Given the description of an element on the screen output the (x, y) to click on. 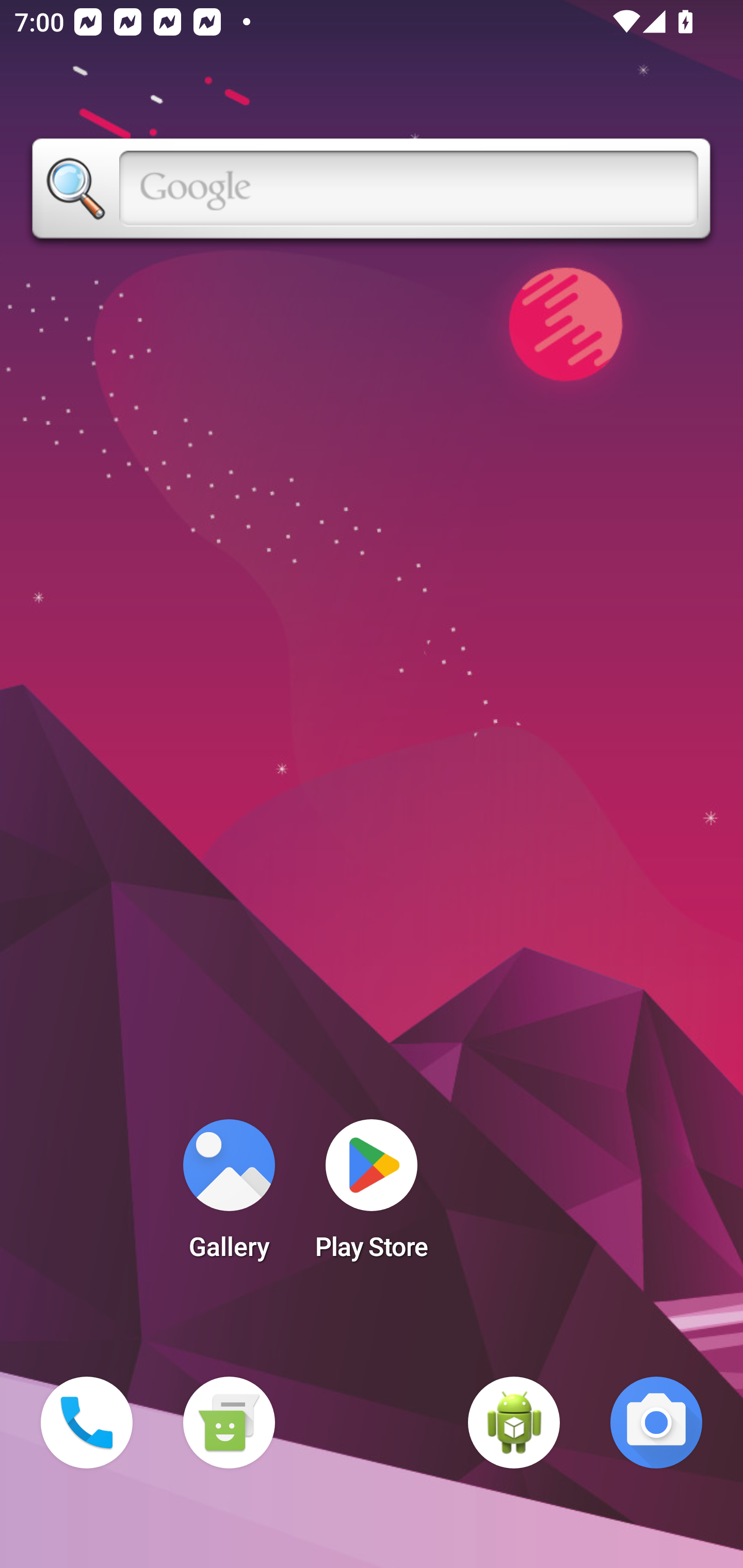
Gallery (228, 1195)
Play Store (371, 1195)
Phone (86, 1422)
Messaging (228, 1422)
WebView Browser Tester (513, 1422)
Camera (656, 1422)
